Given the description of an element on the screen output the (x, y) to click on. 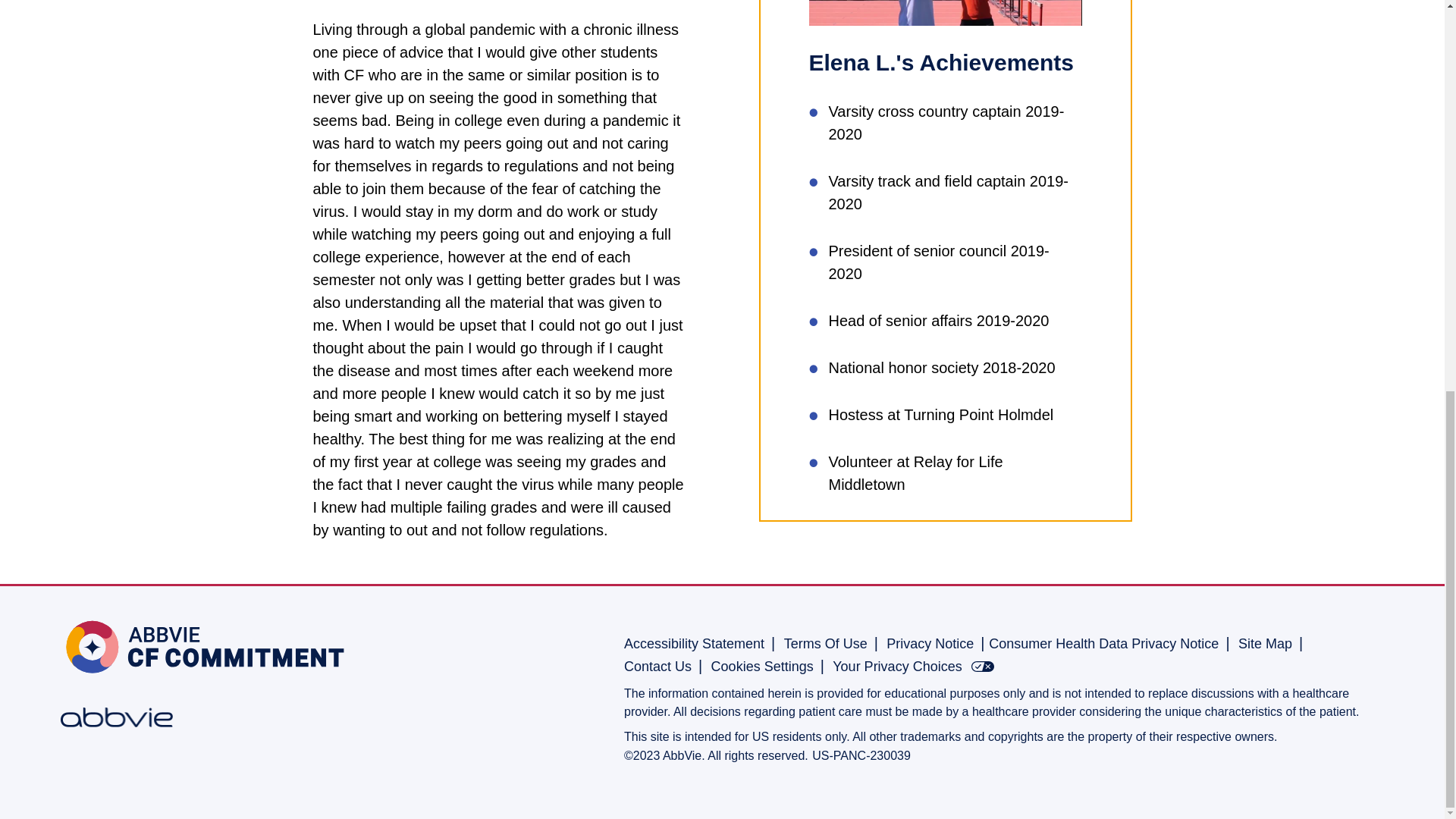
Cookies Settings (762, 666)
